Given the description of an element on the screen output the (x, y) to click on. 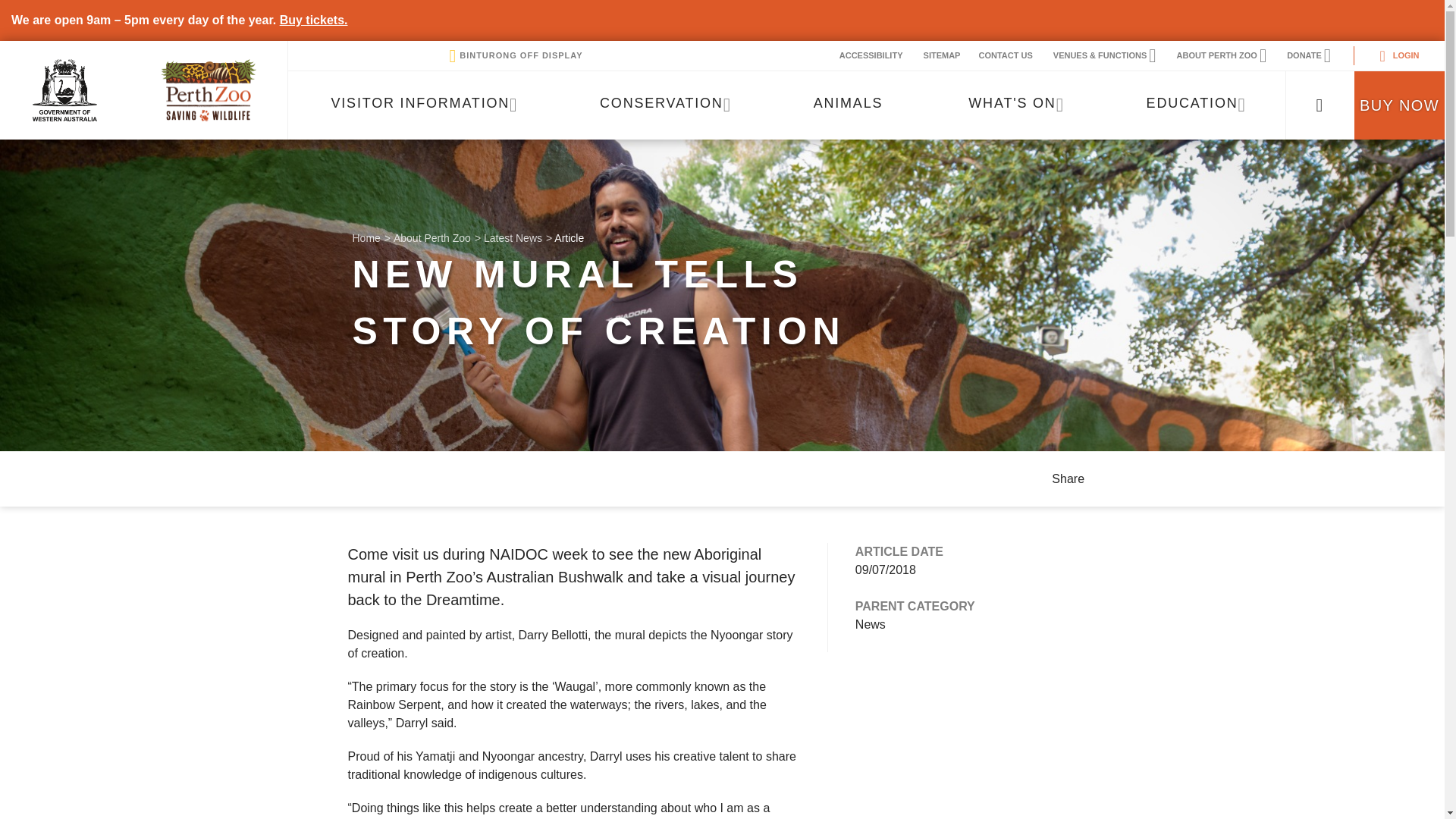
ACCESSIBILITY (870, 55)
Perth Zoo Logo (786, 105)
SITEMAP (207, 89)
CONTACT US (941, 55)
BINTURONG OFF DISPLAY (1005, 55)
WA Government Badge (513, 55)
